Given the description of an element on the screen output the (x, y) to click on. 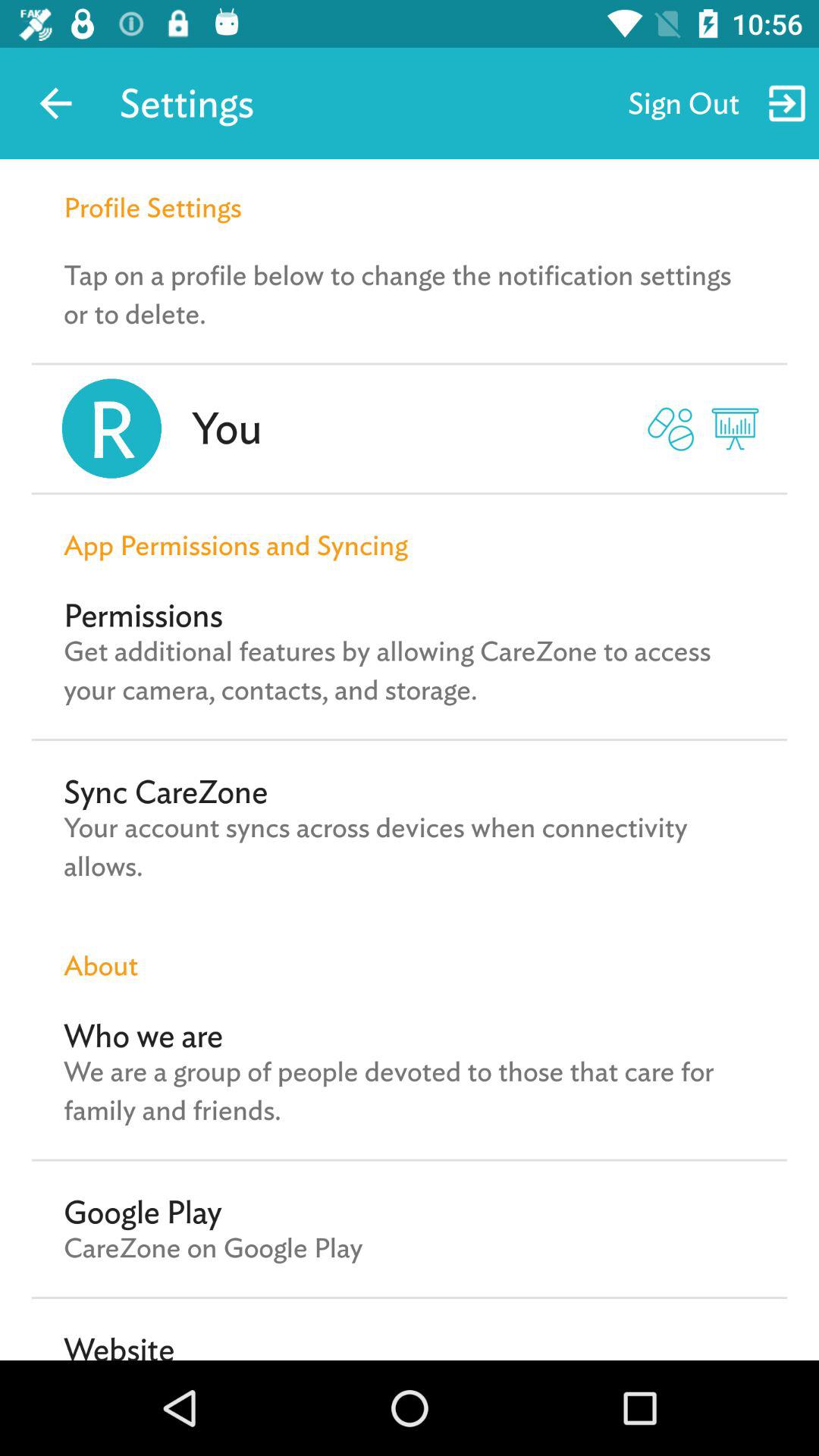
click icon below sync carezone (409, 847)
